Given the description of an element on the screen output the (x, y) to click on. 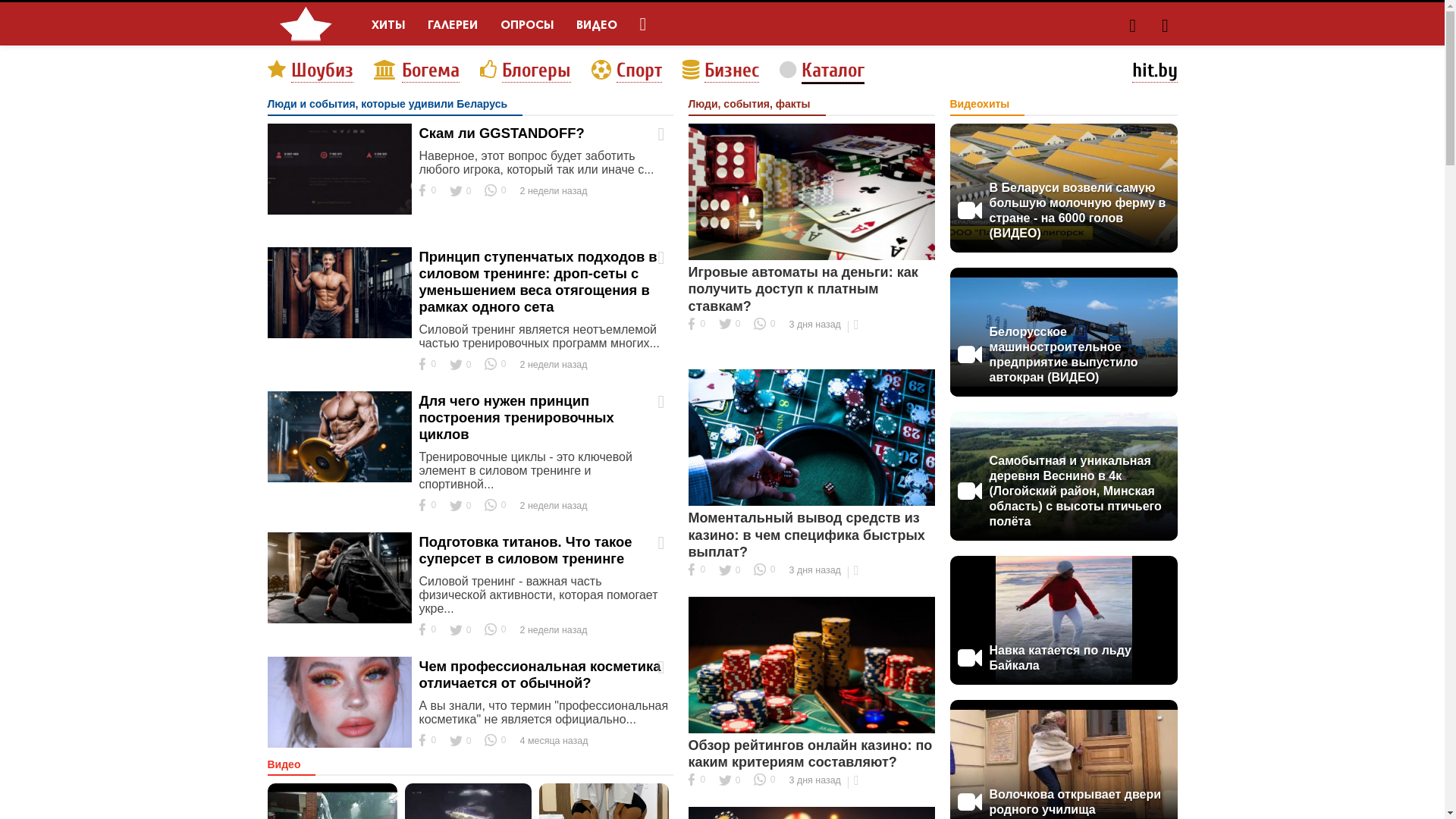
hit.by Element type: text (1153, 70)
